Given the description of an element on the screen output the (x, y) to click on. 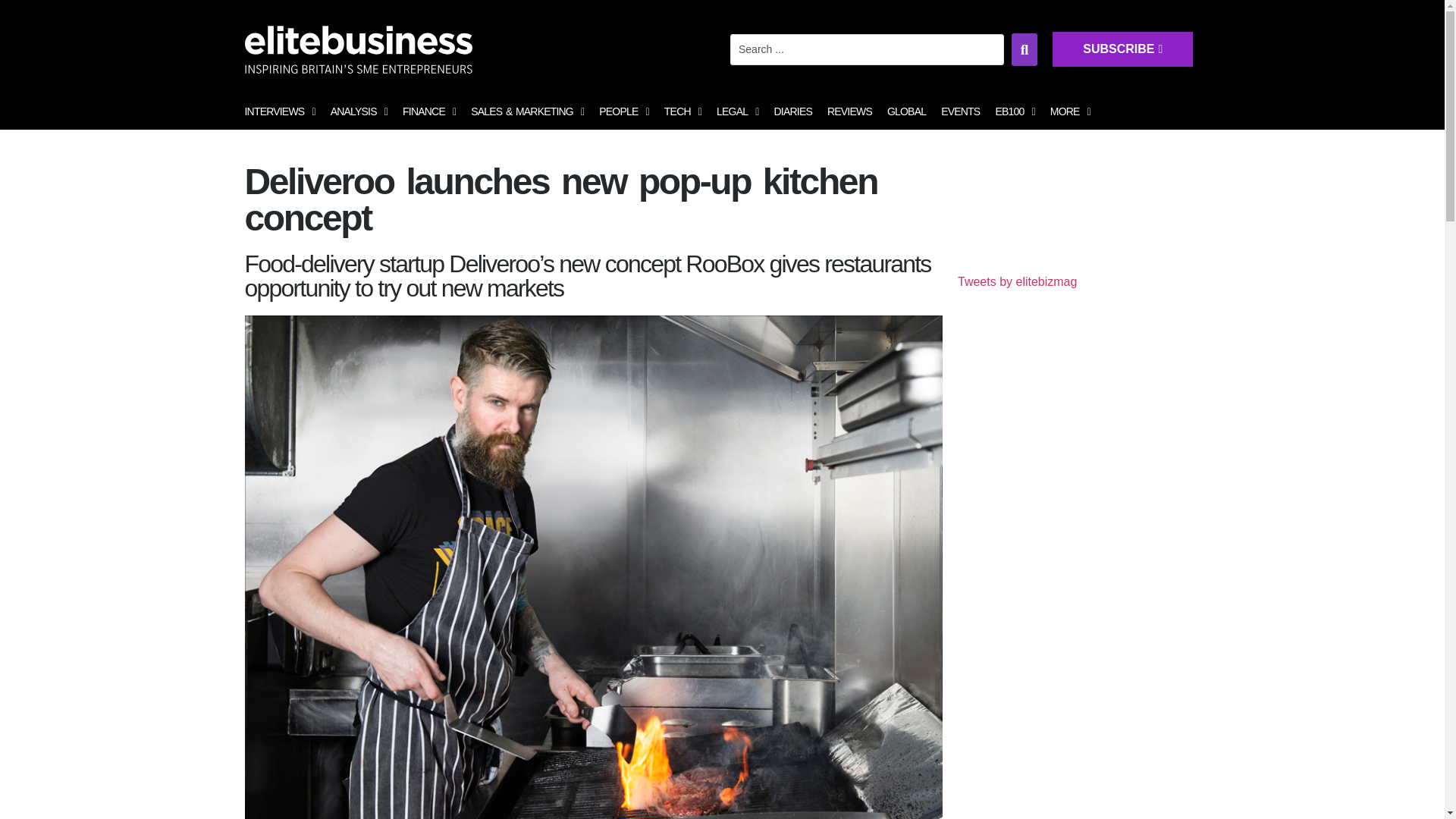
INTERVIEWS (278, 112)
PEOPLE (623, 112)
FINANCE (428, 112)
TECH (682, 112)
SUBSCRIBE (1285, 62)
ANALYSIS (358, 112)
